Given the description of an element on the screen output the (x, y) to click on. 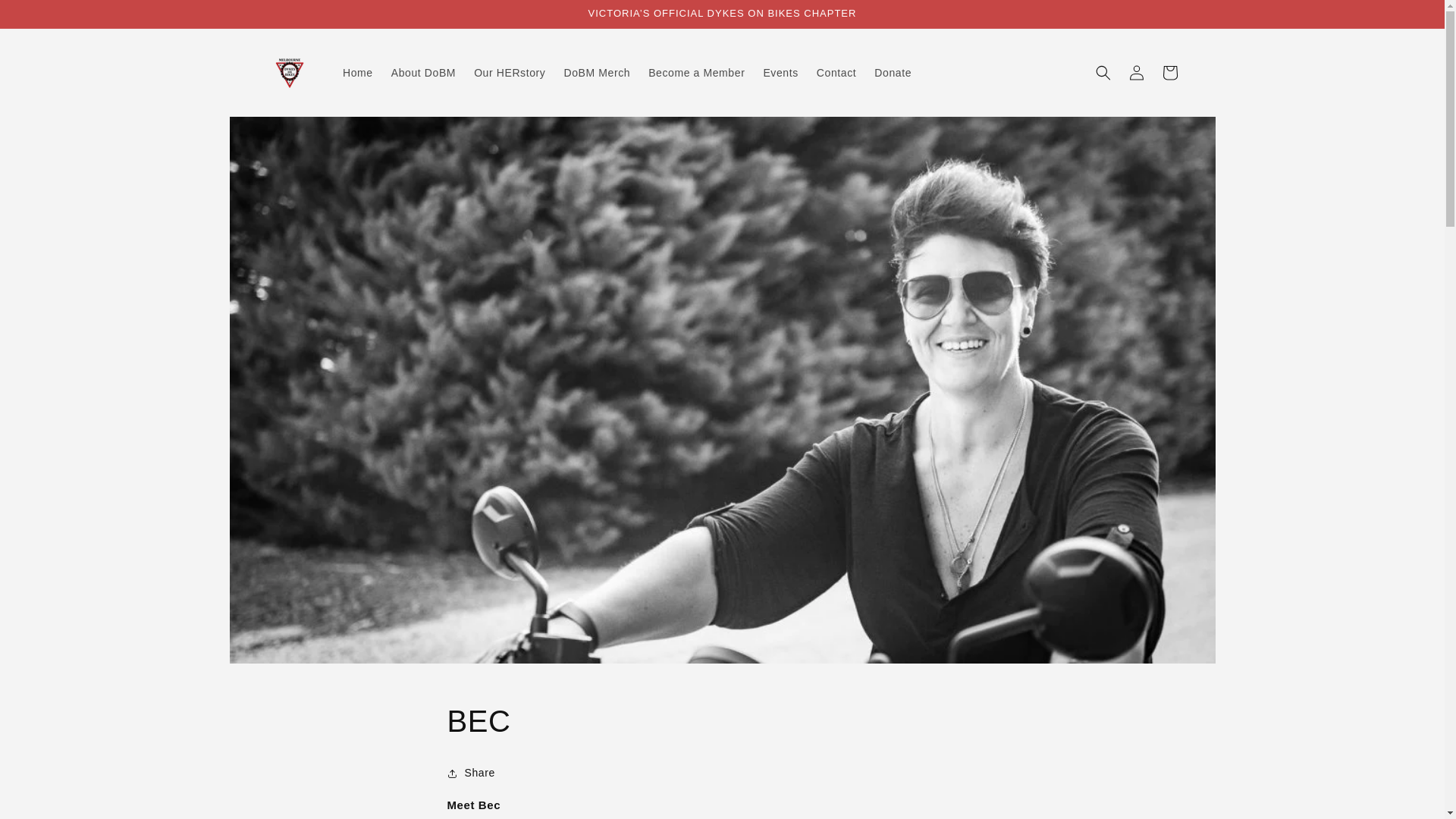
Events Element type: text (779, 72)
DoBM Merch Element type: text (596, 72)
Log in Element type: text (1135, 72)
Become a Member Element type: text (696, 72)
Our HERstory Element type: text (509, 72)
Home Element type: text (357, 72)
About DoBM Element type: text (423, 72)
Cart Element type: text (1169, 72)
Donate Element type: text (892, 72)
Contact Element type: text (836, 72)
